Given the description of an element on the screen output the (x, y) to click on. 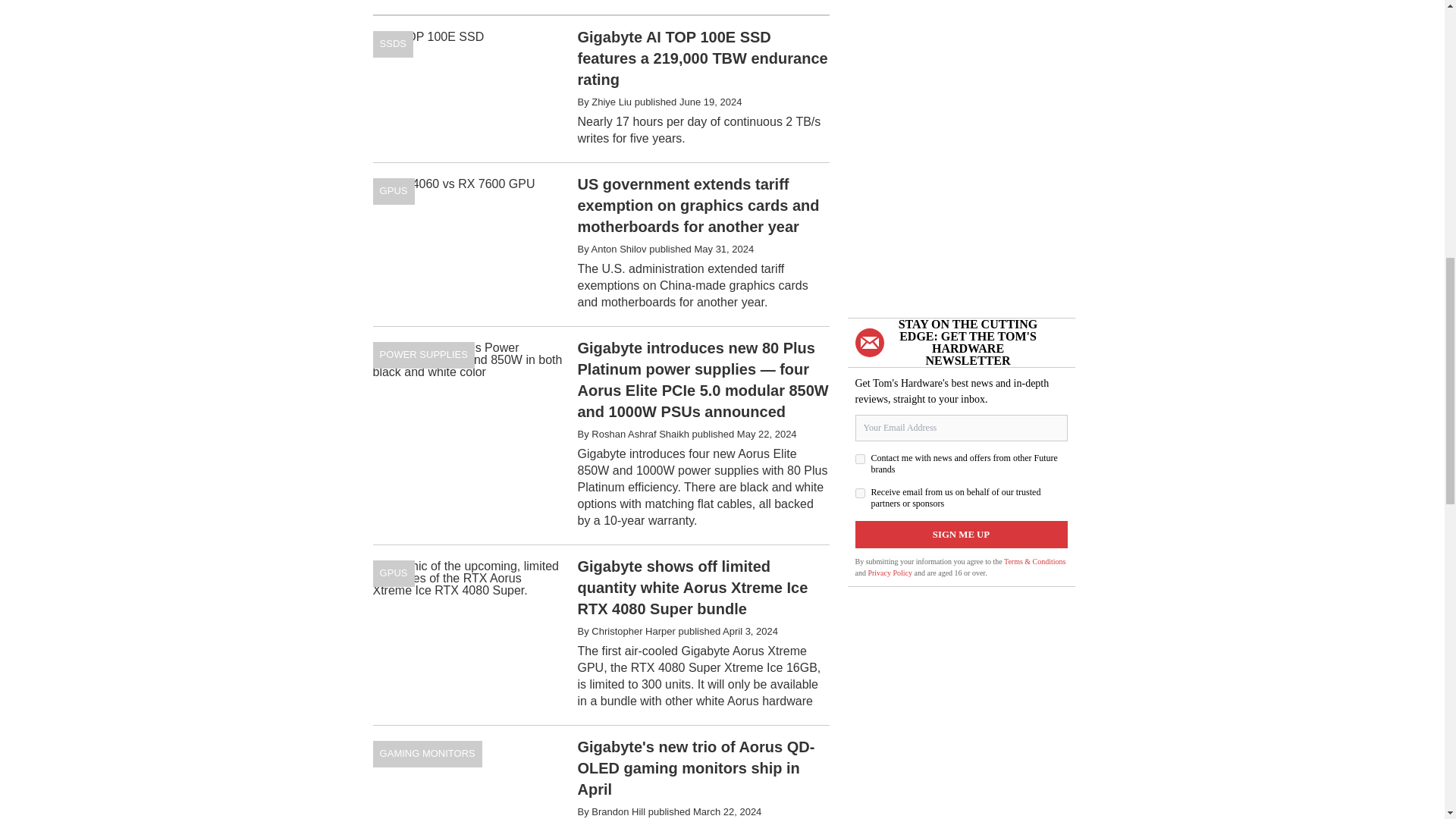
Sign me up (961, 533)
on (860, 459)
on (860, 492)
